Given the description of an element on the screen output the (x, y) to click on. 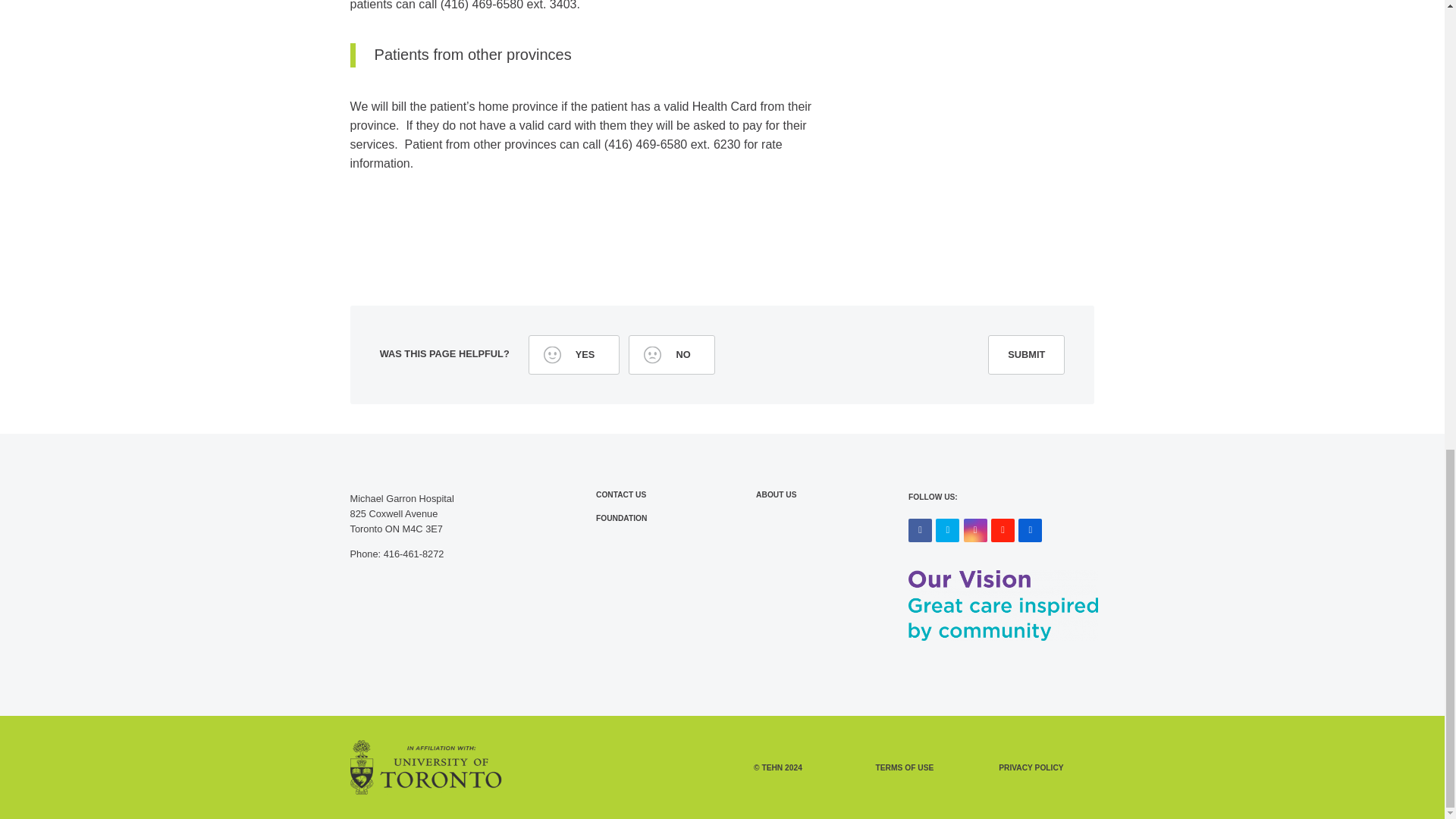
In affiliation with: University Of Toronto (426, 767)
Our vision (1002, 605)
Submit (1026, 354)
